Given the description of an element on the screen output the (x, y) to click on. 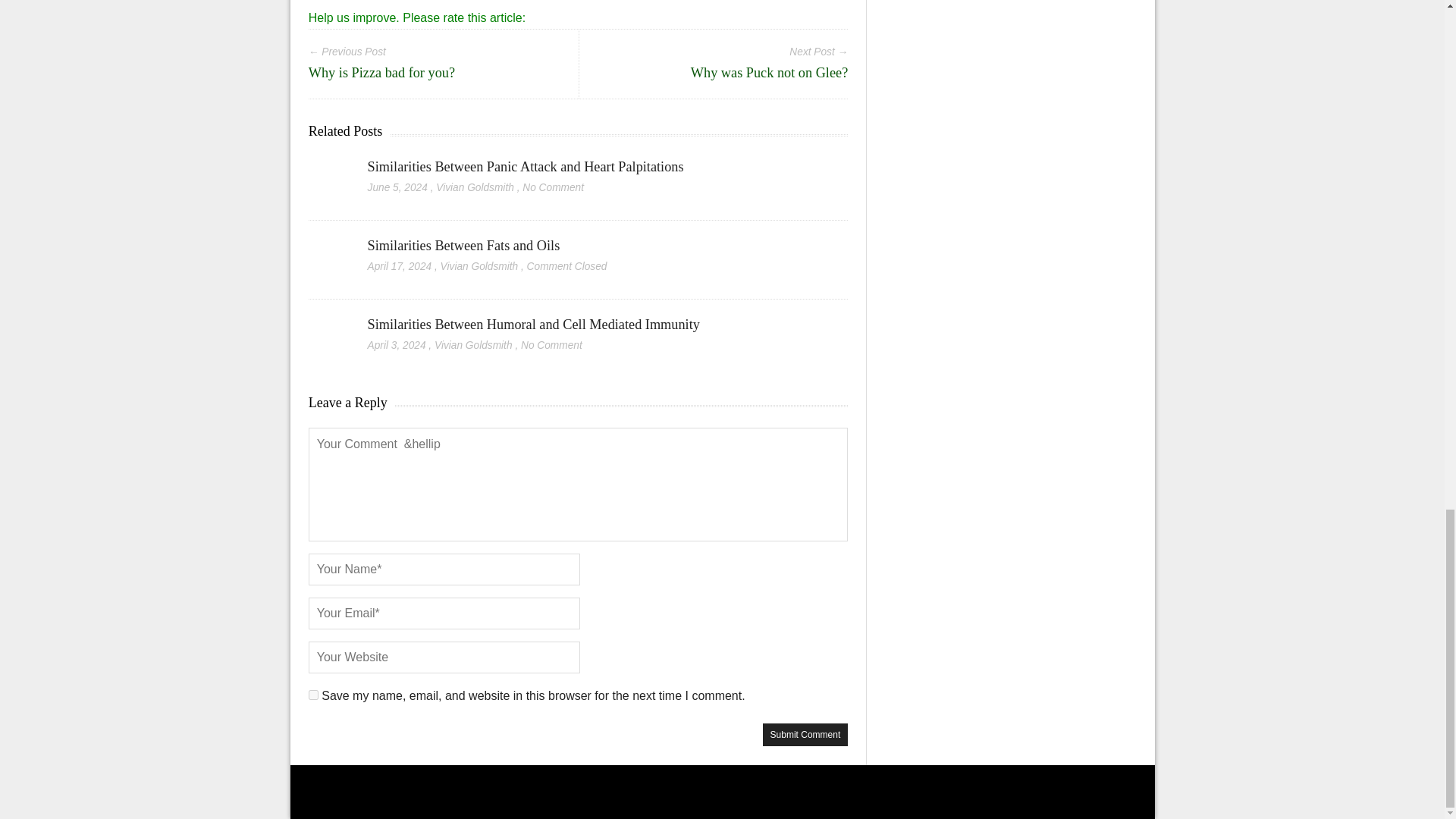
Why is Nervous System important? (395, 5)
Similarities Between Fats and Oils (464, 245)
Similarities Between Panic Attack and Heart Palpitations (526, 166)
Similarities Between Panic Attack and Heart Palpitations (329, 167)
Posts by Vivian Goldsmith (479, 266)
Why is the skeletal system important? (577, 5)
Similarities Between Panic Attack and Heart Palpitations (526, 166)
Posts by Vivian Goldsmith (474, 187)
Submit Comment (805, 734)
Similarities Between Humoral and Cell Mediated Immunity (534, 324)
